Given the description of an element on the screen output the (x, y) to click on. 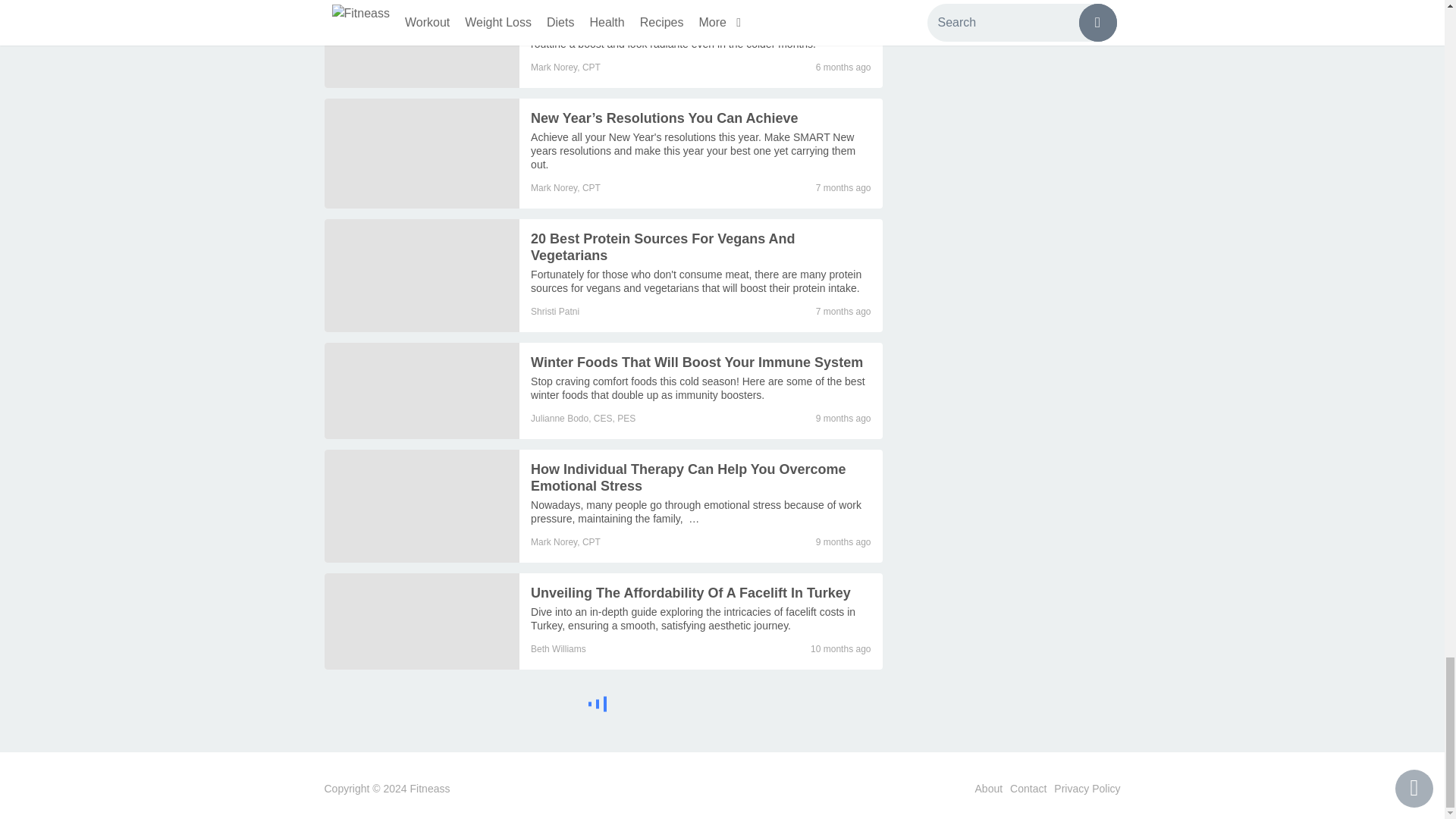
Searching for more related posts... (603, 706)
